Given the description of an element on the screen output the (x, y) to click on. 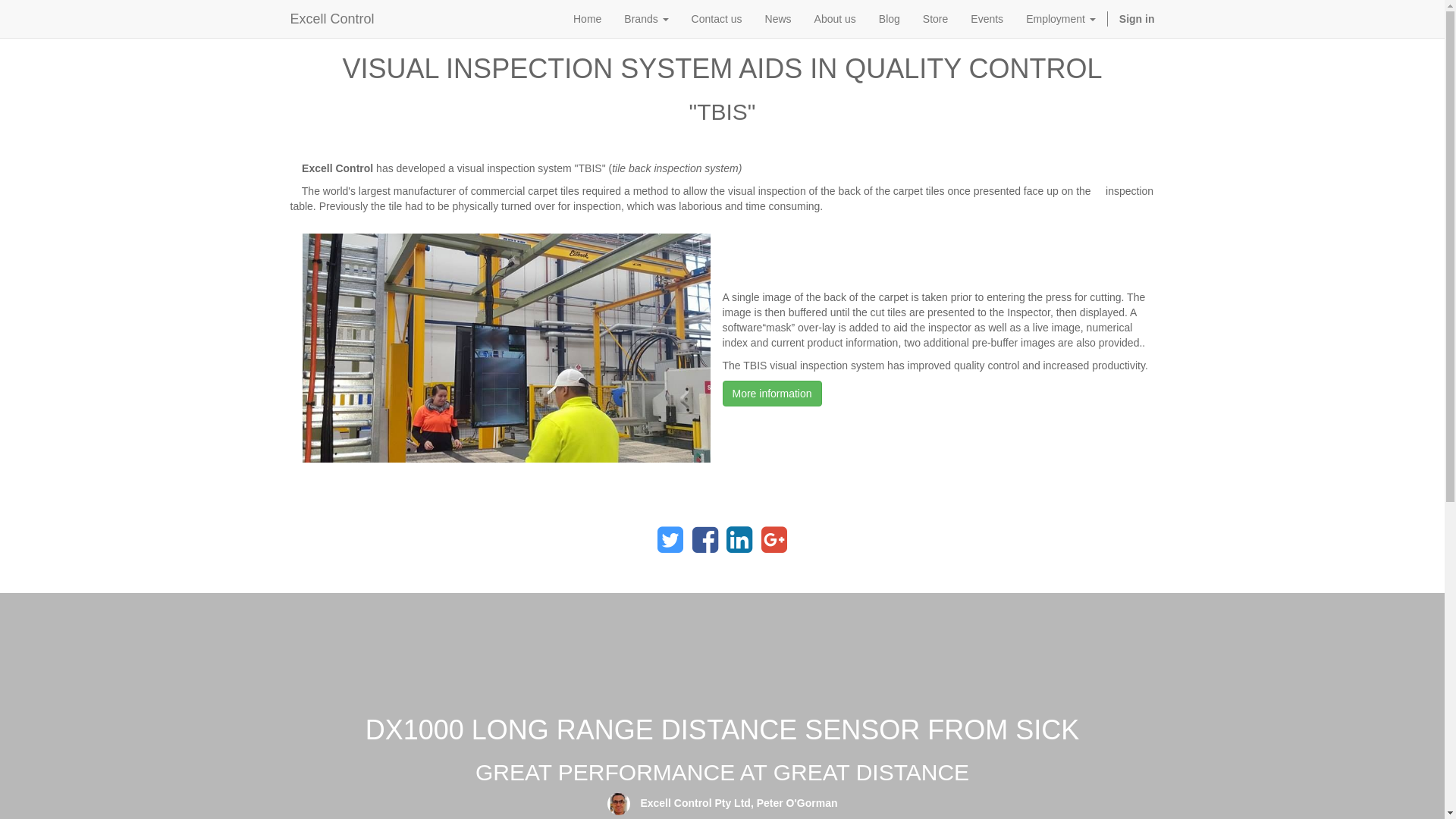
Excell Control Element type: text (332, 18)
More information Element type: text (771, 393)
Sign in Element type: text (1136, 18)
Employment Element type: text (1060, 18)
Store Element type: text (935, 18)
News Element type: text (778, 18)
Events Element type: text (986, 18)
Brands Element type: text (645, 18)
Contact us Element type: text (716, 18)
Home Element type: text (586, 18)
About us Element type: text (835, 18)
Blog Element type: text (889, 18)
